Given the description of an element on the screen output the (x, y) to click on. 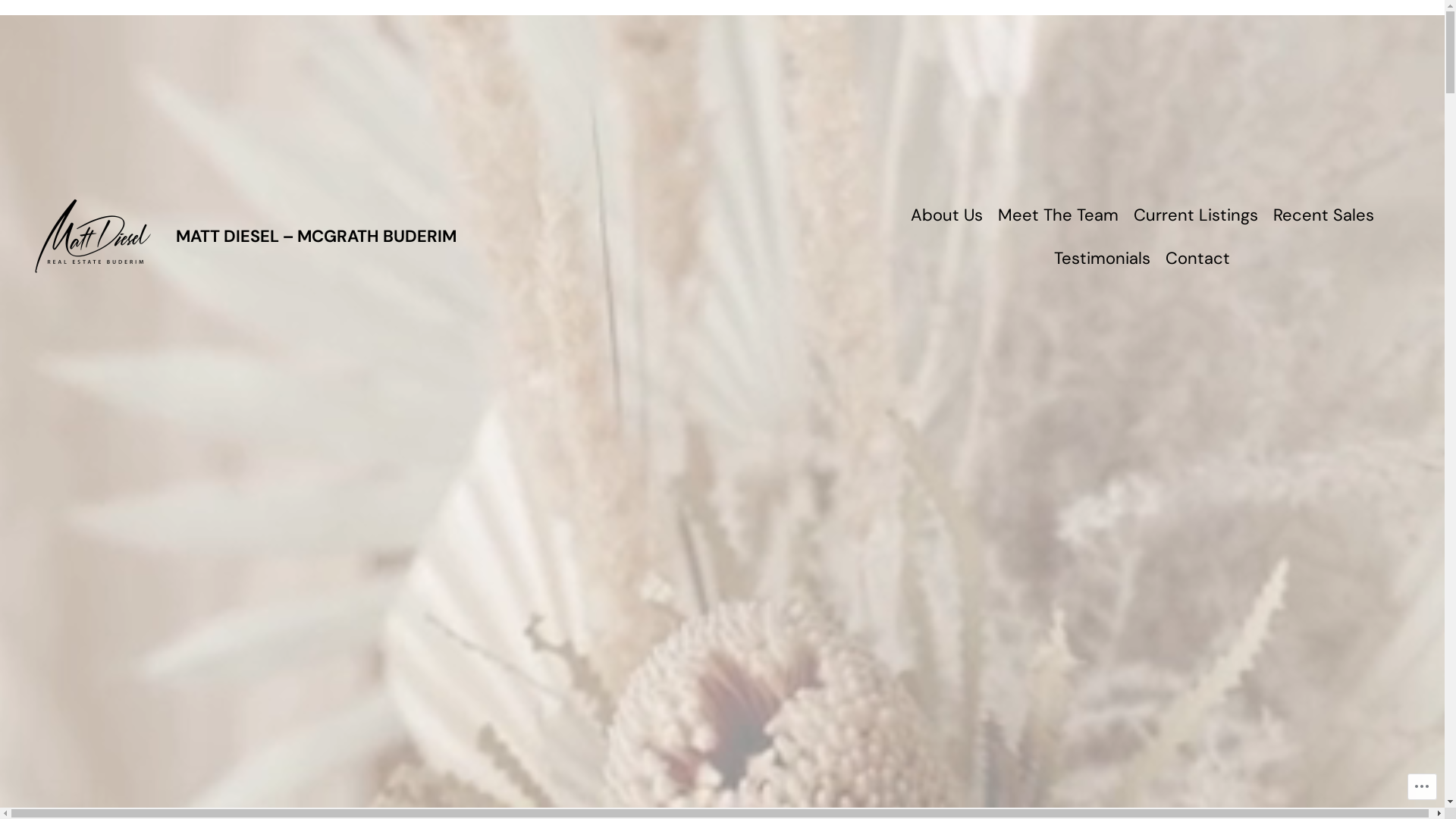
Meet The Team Element type: text (1057, 214)
Testimonials Element type: text (1102, 258)
About Us Element type: text (946, 214)
Contact Element type: text (1197, 258)
Current Listings Element type: text (1194, 214)
Recent Sales Element type: text (1322, 214)
